Given the description of an element on the screen output the (x, y) to click on. 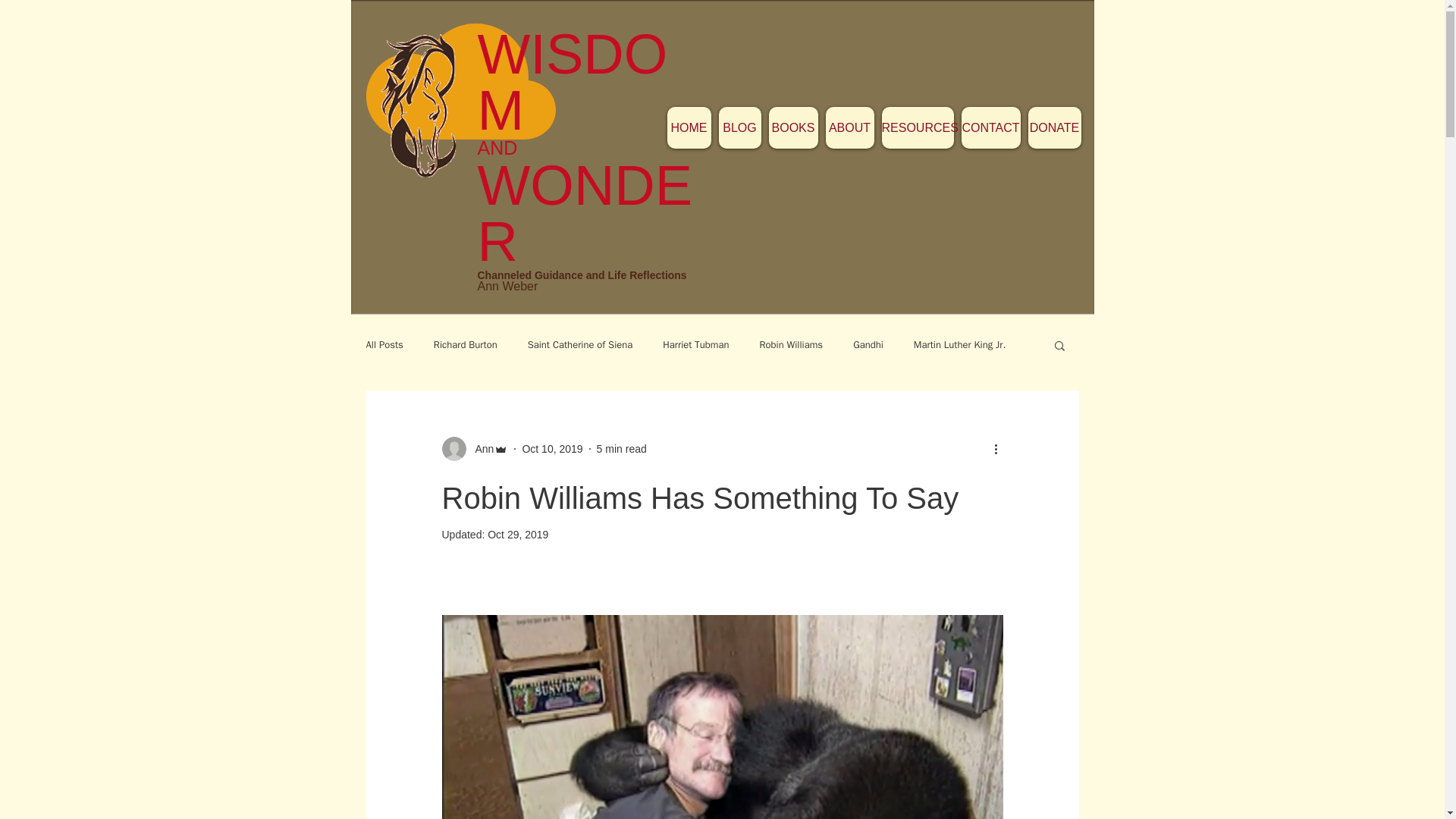
Gandhi (868, 345)
Martin Luther King Jr. (960, 345)
DONATE (1054, 127)
ABOUT (849, 127)
HOME (688, 127)
Robin Williams (792, 345)
AND  (505, 147)
Harriet Tubman (695, 345)
RESOURCES (916, 127)
Oct 10, 2019 (551, 449)
